Given the description of an element on the screen output the (x, y) to click on. 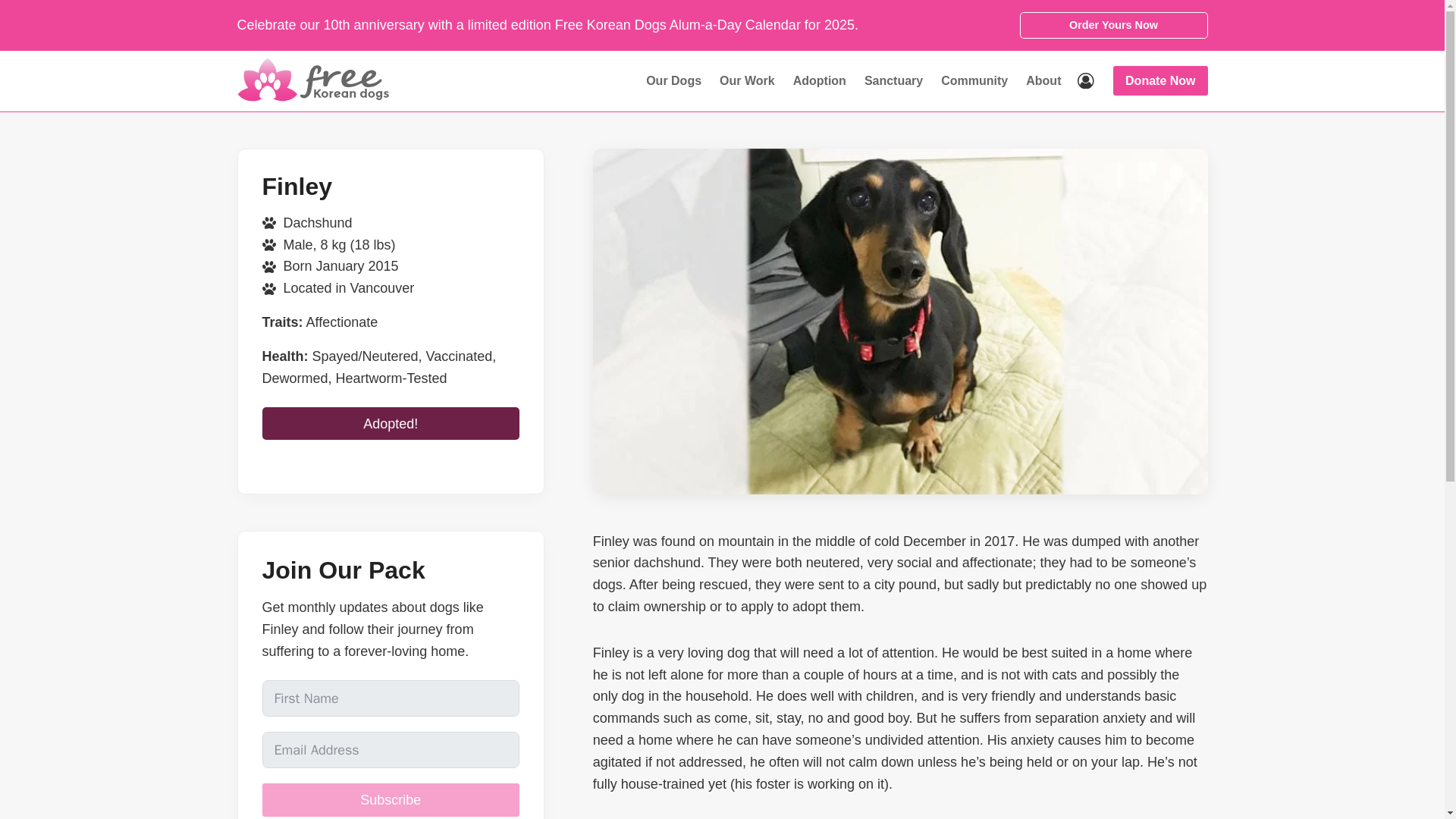
Community (973, 80)
Donate Now (1160, 80)
Subscribe (390, 798)
Our Dogs (673, 80)
Order Yours Now (1113, 25)
Sanctuary (893, 80)
Adoption (820, 80)
Our Work (747, 80)
About (1043, 80)
